Given the description of an element on the screen output the (x, y) to click on. 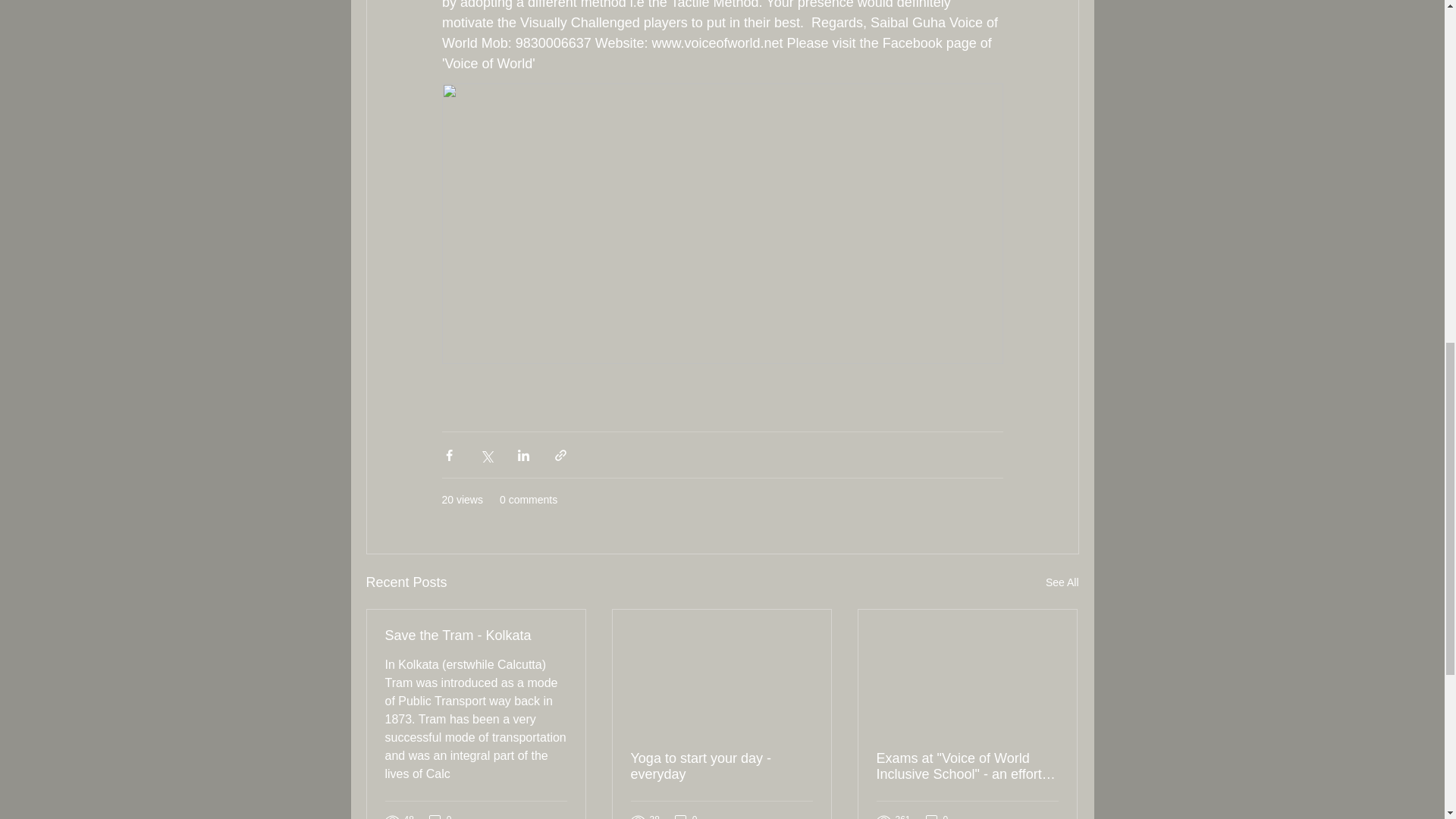
Save the Tram - Kolkata (476, 635)
0 (440, 816)
0 (937, 816)
0 (685, 816)
Yoga to start your day - everyday (721, 766)
See All (1061, 582)
